Given the description of an element on the screen output the (x, y) to click on. 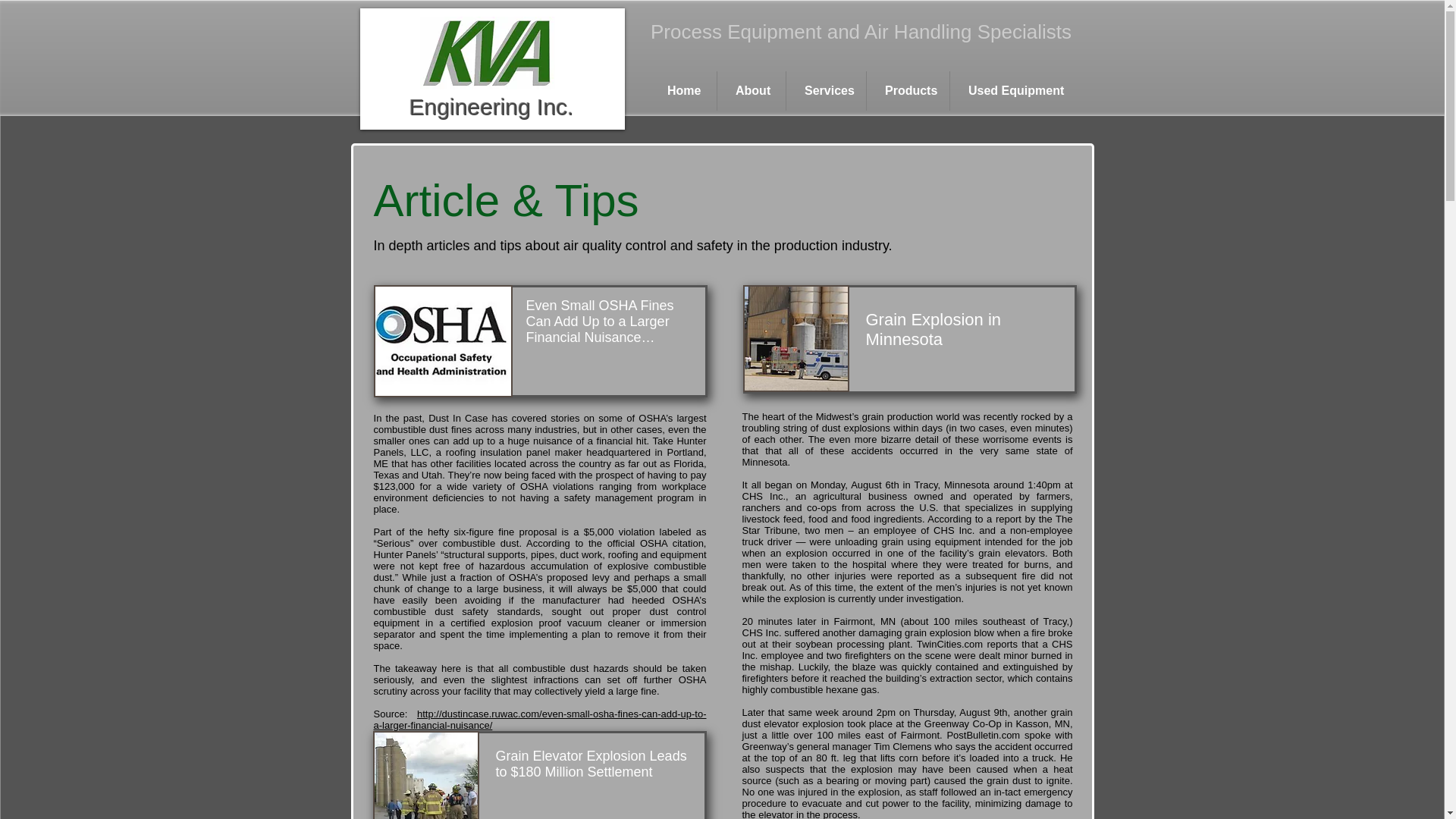
KVA Engineering (487, 52)
Services (826, 90)
About (751, 90)
minnesotaexplosion1.png (795, 338)
Products (907, 90)
Used Equipment (1012, 90)
Home (682, 90)
ConAgra explosion.jpg (425, 775)
OSHAlogo-200x150.jpg (442, 341)
